Given the description of an element on the screen output the (x, y) to click on. 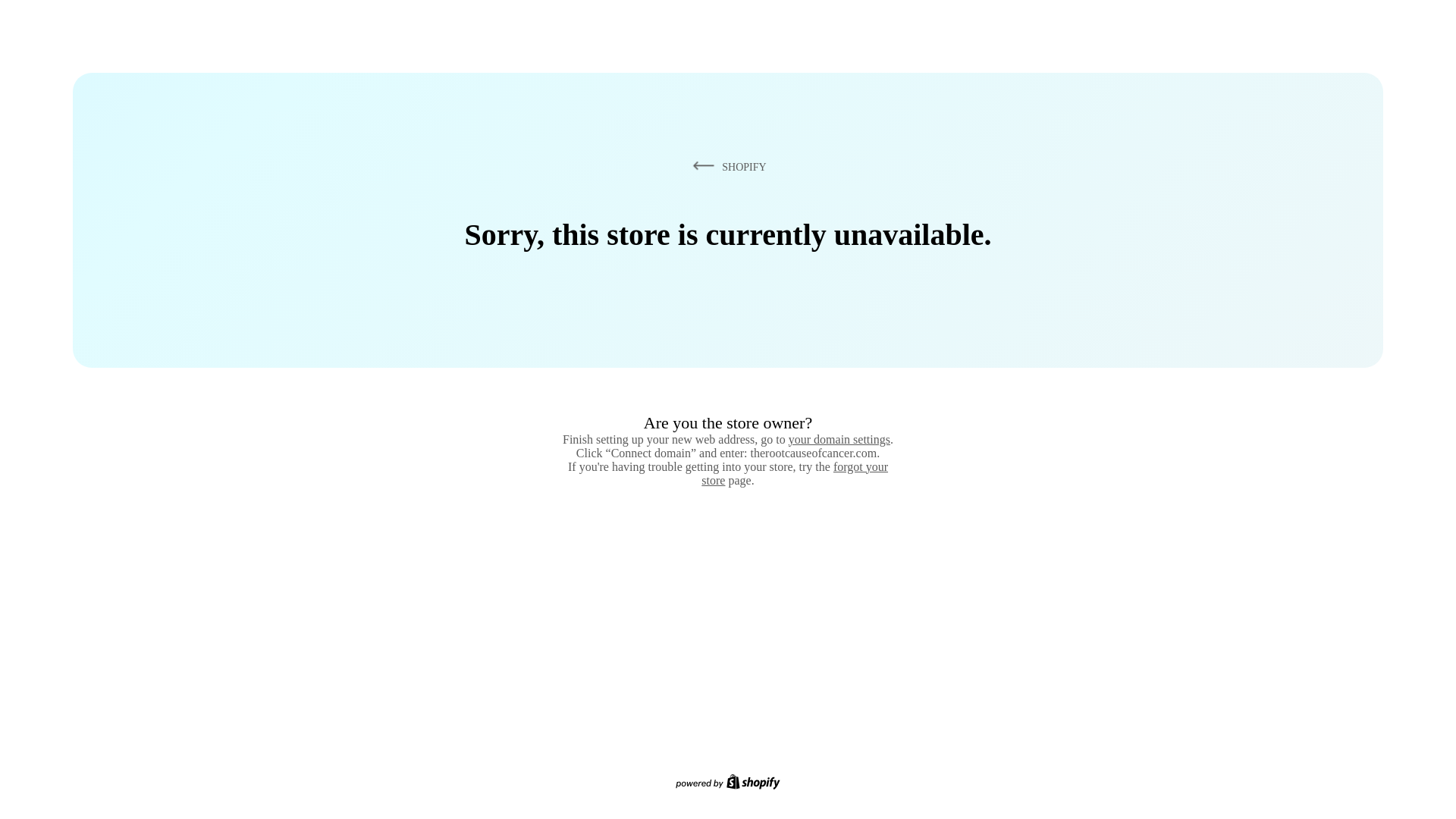
SHOPIFY (726, 166)
your domain settings (839, 439)
forgot your store (794, 473)
